Given the description of an element on the screen output the (x, y) to click on. 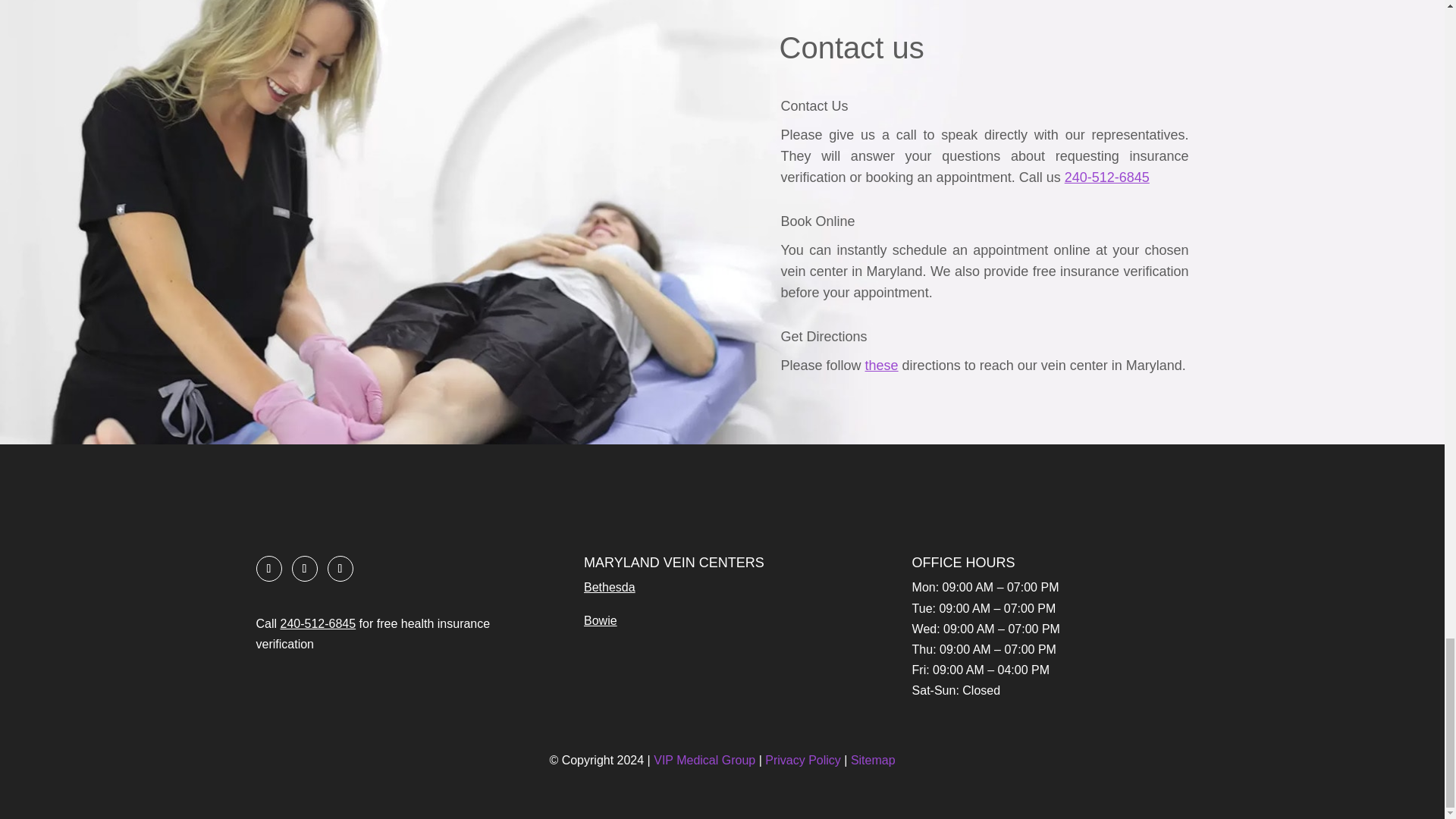
Follow on Facebook (269, 568)
Follow on Youtube (340, 568)
Follow on google-plus (304, 568)
